Given the description of an element on the screen output the (x, y) to click on. 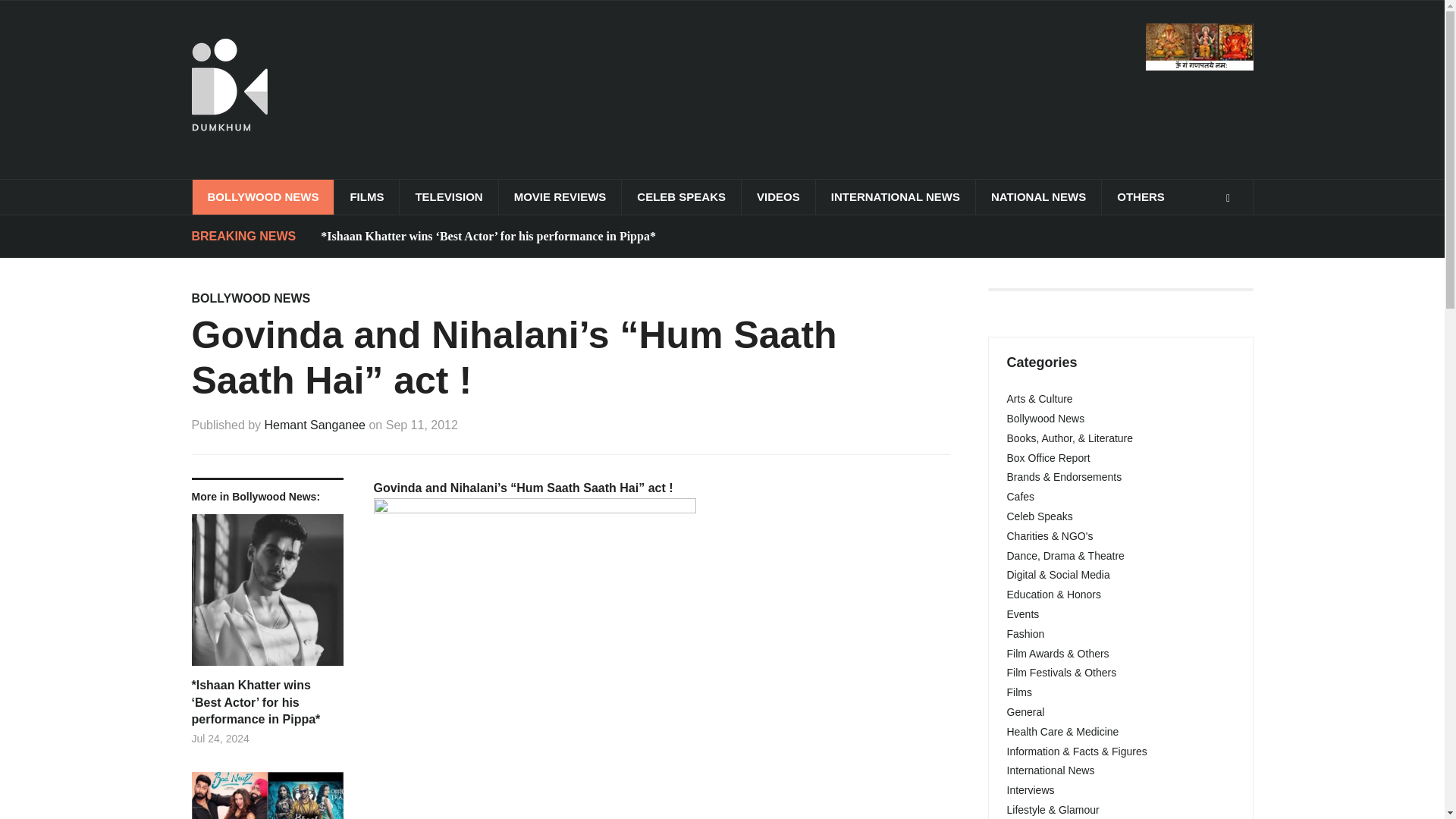
Posts by Hemant Sanganee (314, 424)
Search (1227, 198)
